Given the description of an element on the screen output the (x, y) to click on. 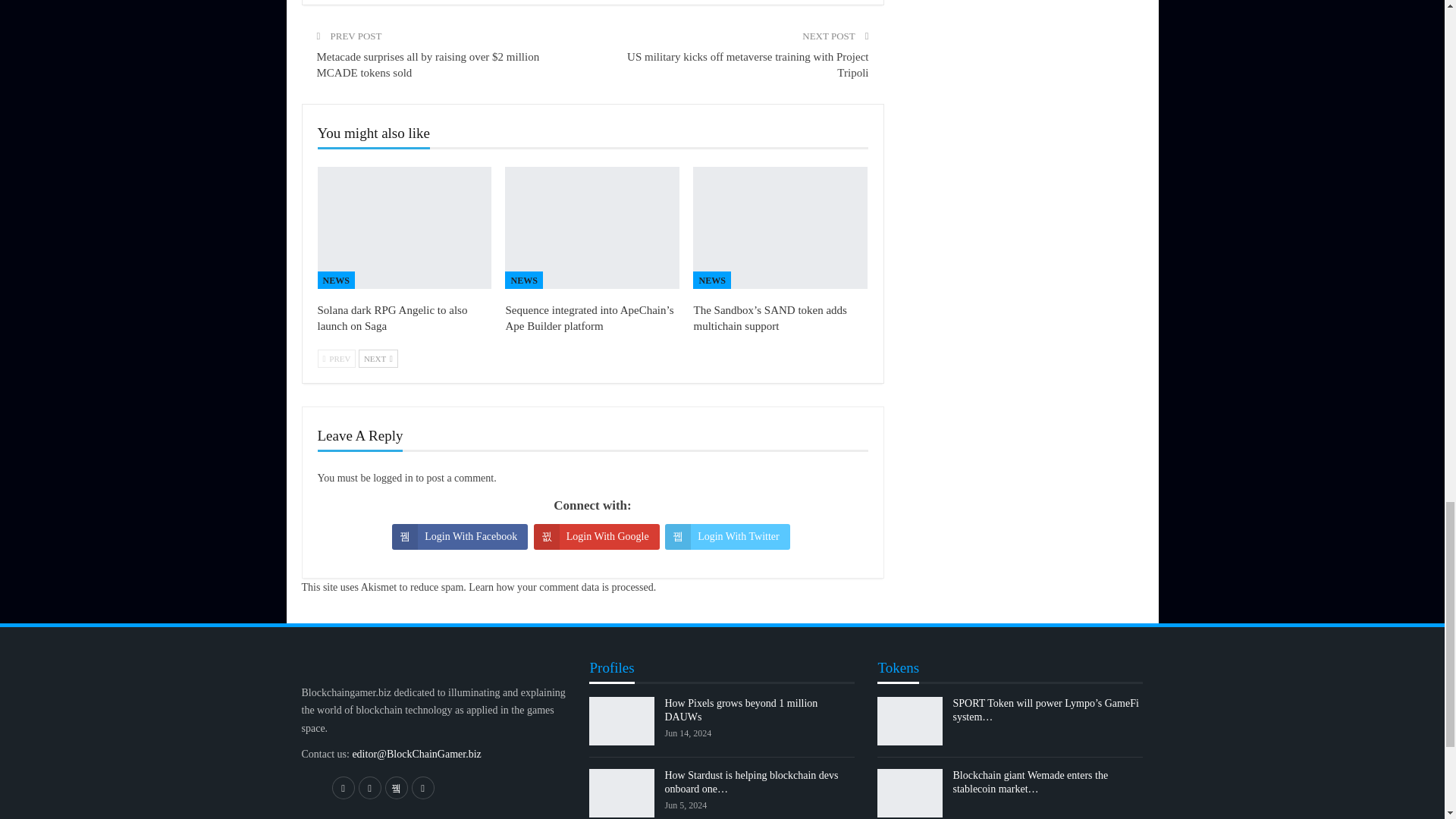
NEWS (335, 279)
Next (377, 358)
Solana dark RPG Angelic to also launch on Saga (392, 317)
Previous (336, 358)
Solana dark RPG Angelic to also launch on Saga (404, 228)
Solana dark RPG Angelic to also launch on Saga (392, 317)
NEWS (523, 279)
You might also like (373, 133)
